Given the description of an element on the screen output the (x, y) to click on. 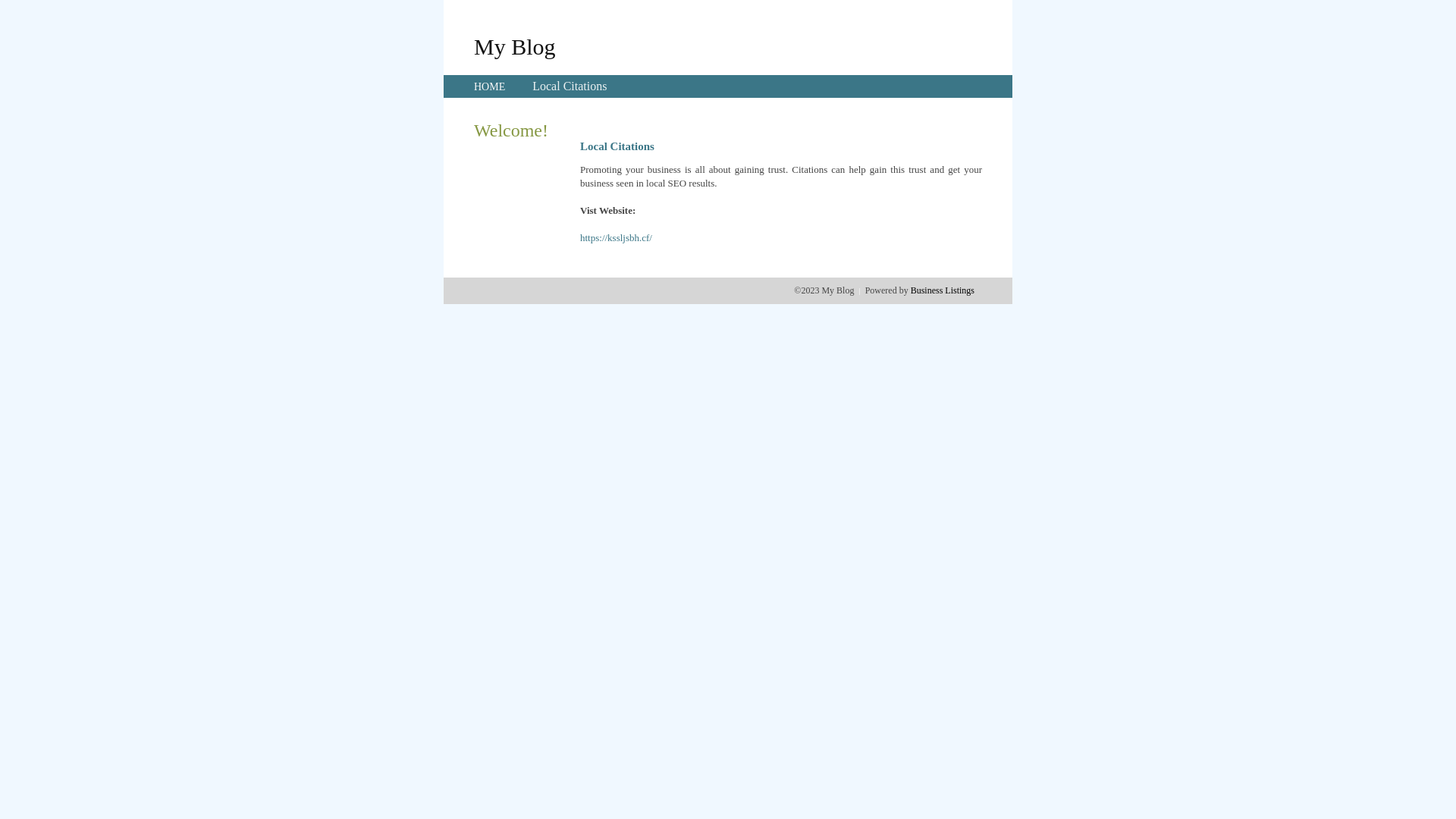
Local Citations Element type: text (569, 85)
https://kssljsbh.cf/ Element type: text (616, 237)
HOME Element type: text (489, 86)
Business Listings Element type: text (942, 290)
My Blog Element type: text (514, 46)
